Given the description of an element on the screen output the (x, y) to click on. 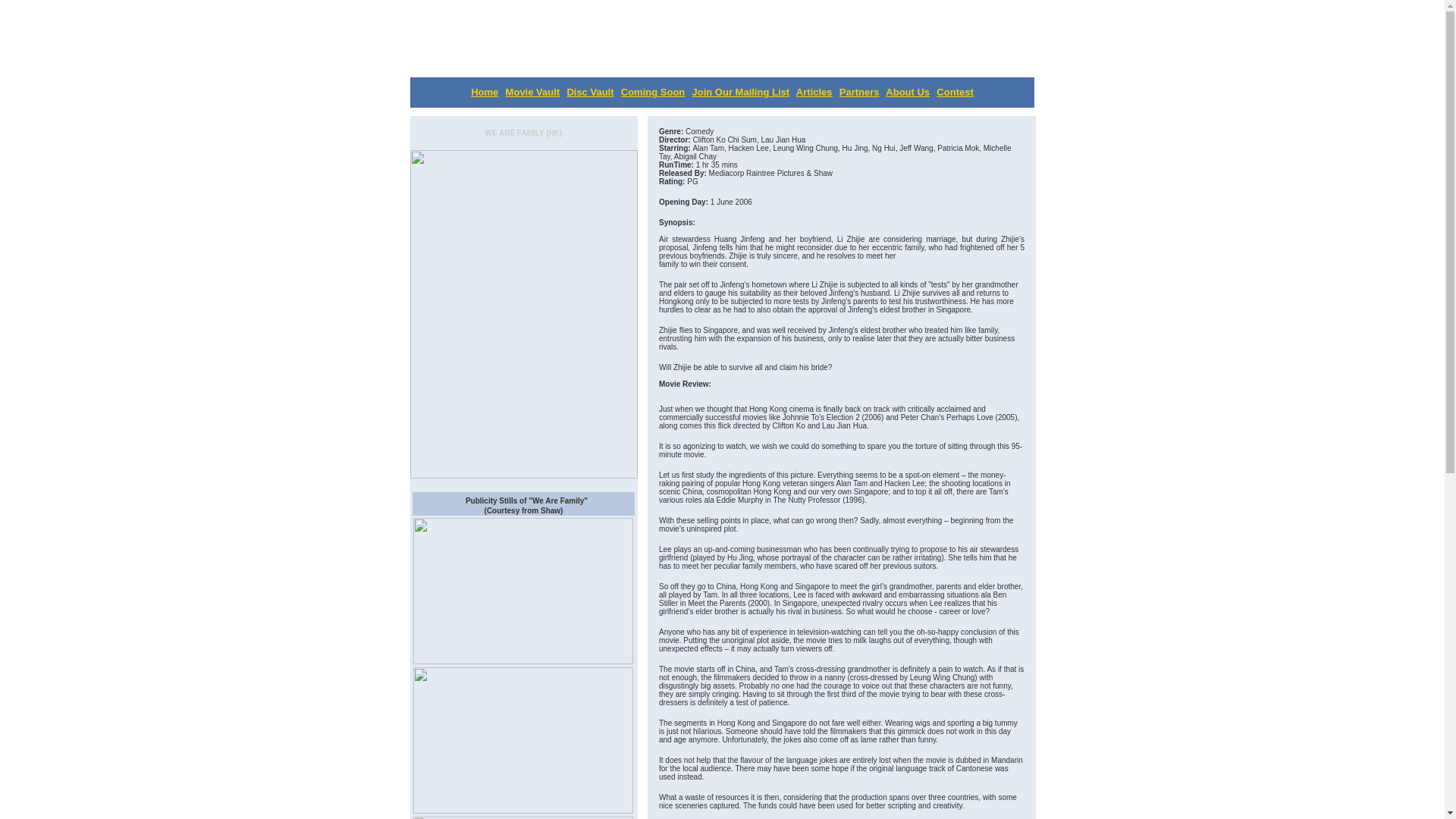
Articles (814, 91)
Join Our Mailing List (741, 91)
Disc Vault (589, 91)
Partners (859, 91)
Contest (954, 91)
About Us (907, 91)
Coming Soon (653, 91)
Movie Vault (532, 91)
Home (483, 91)
